Given the description of an element on the screen output the (x, y) to click on. 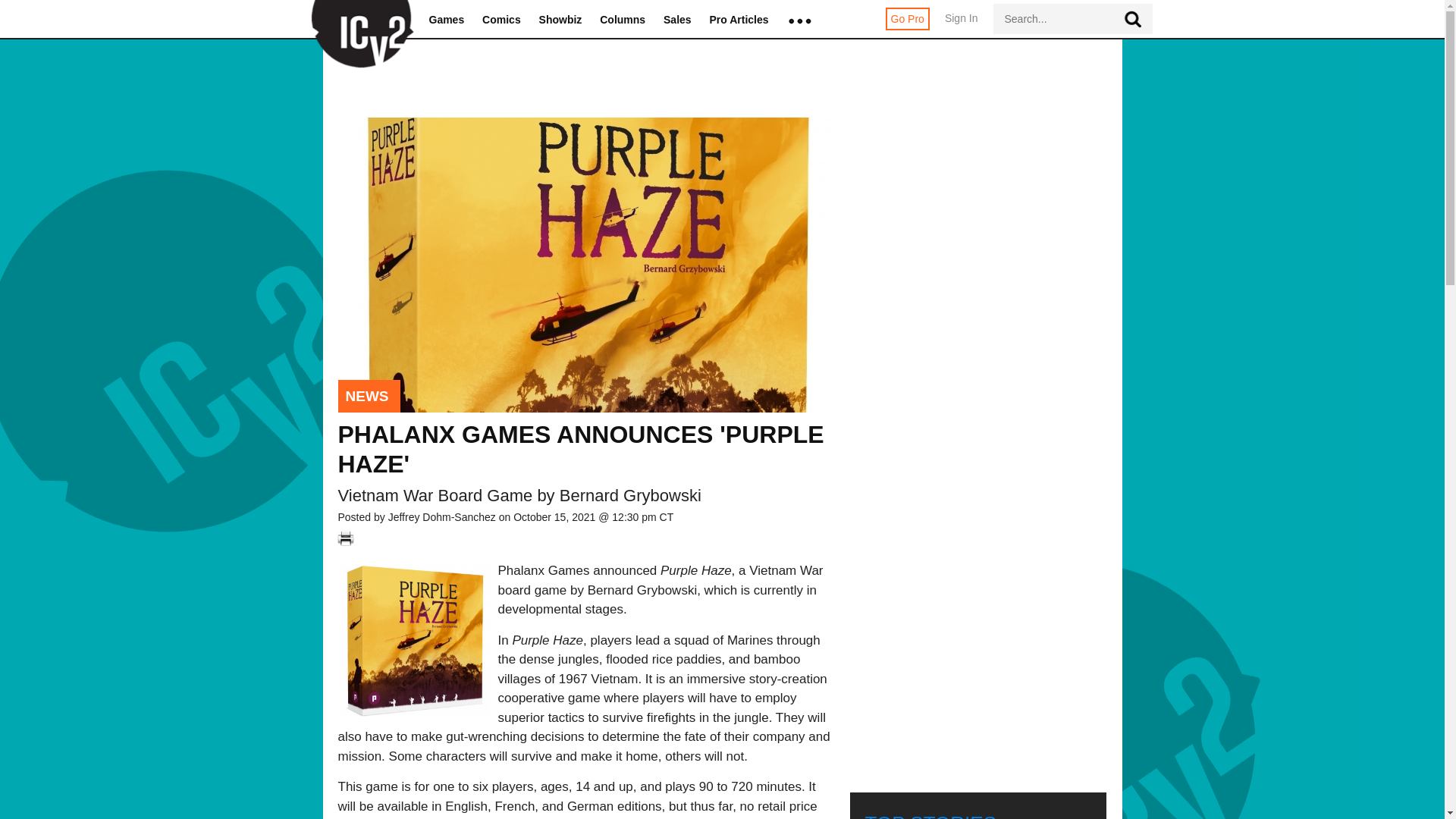
Pro Articles (739, 20)
Go Pro (907, 18)
PHALANX GAMES ANNOUNCES 'PURPLE HAZE' (580, 448)
Showbiz (560, 20)
Games (446, 20)
ICv2 (357, 19)
Columns (622, 20)
Sales (677, 20)
Comics (501, 20)
Sign In (961, 25)
